Given the description of an element on the screen output the (x, y) to click on. 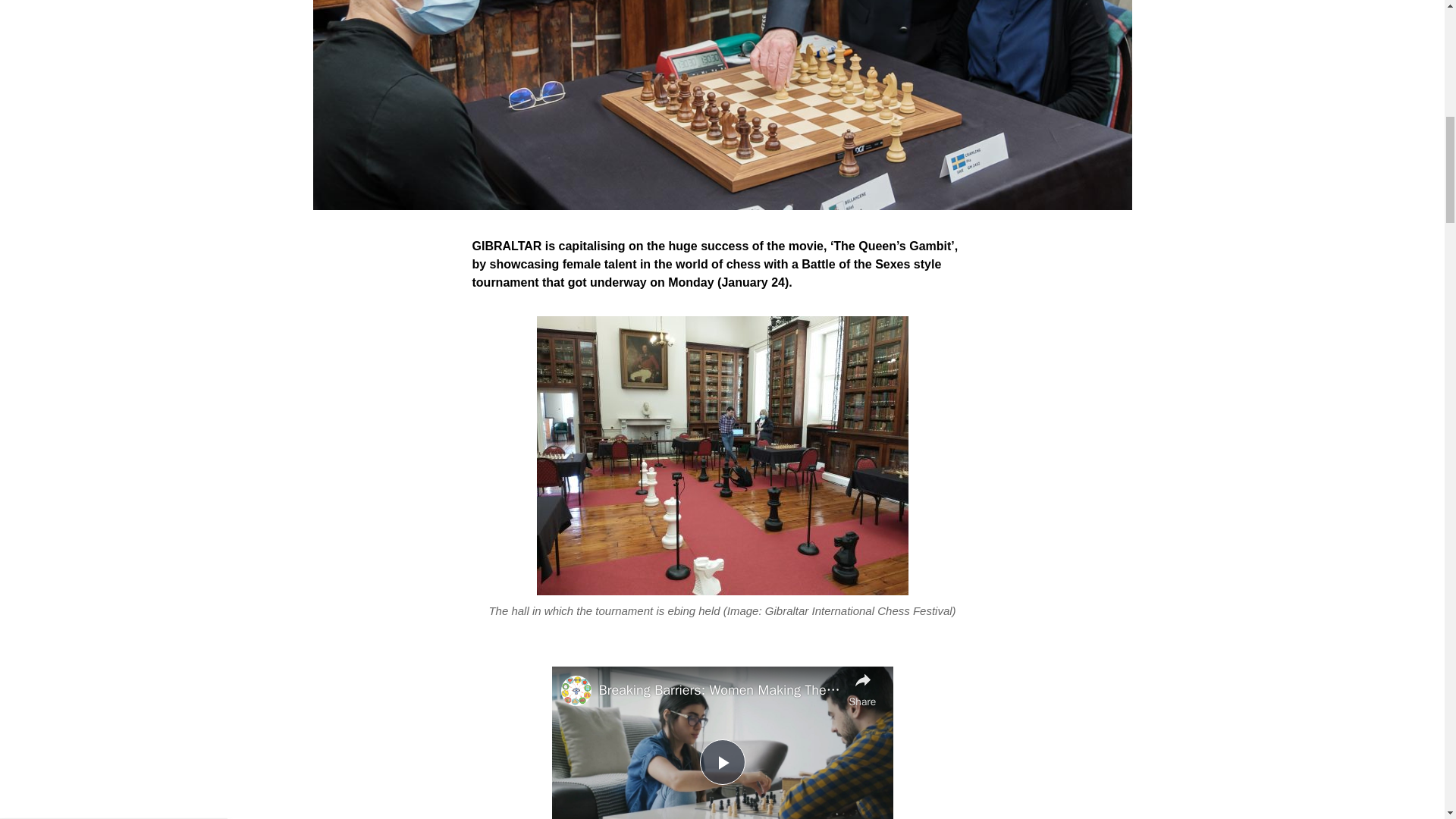
Play Video (1396, 22)
